Given the description of an element on the screen output the (x, y) to click on. 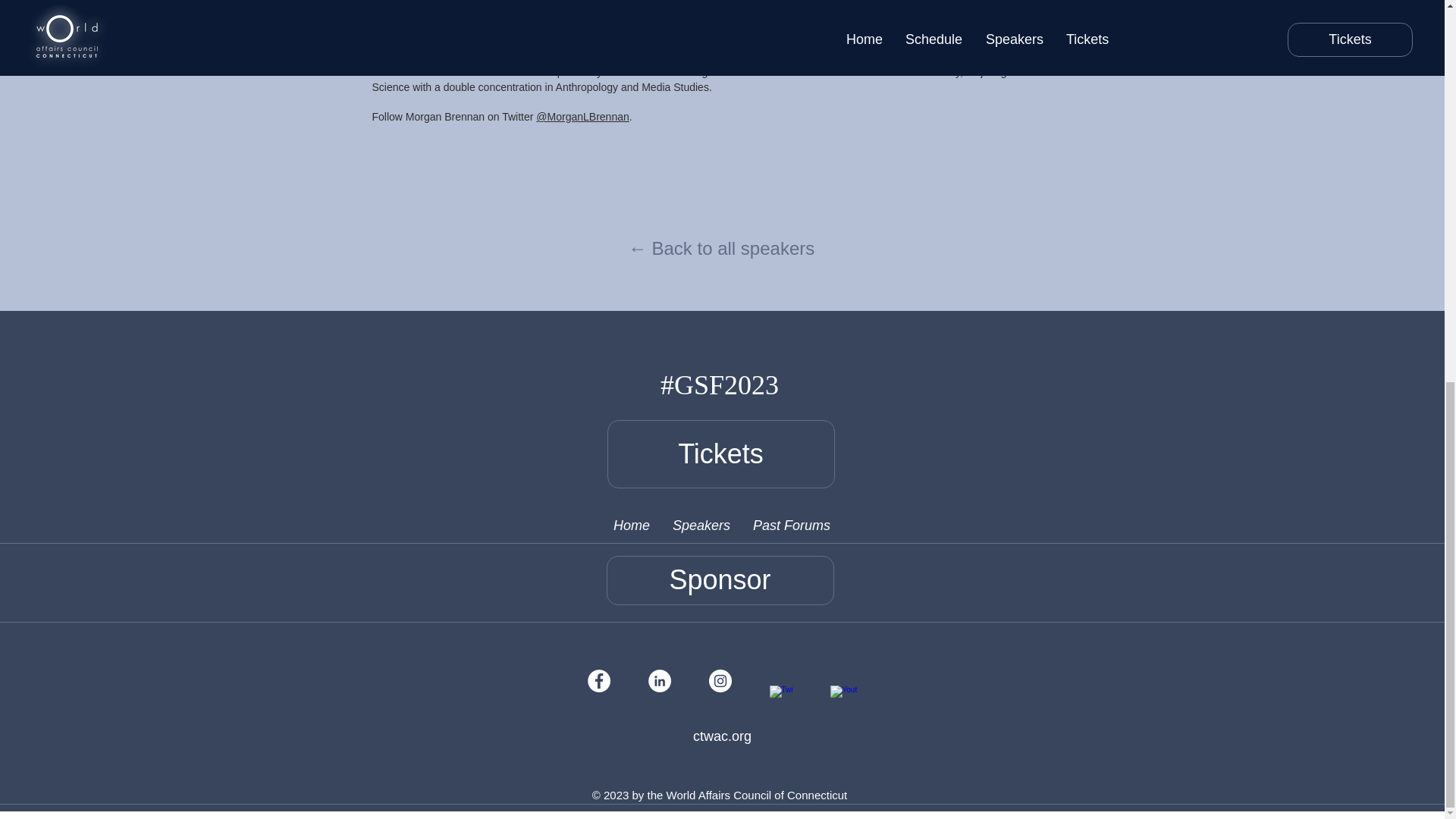
ctwac.org (722, 735)
Sponsor (720, 580)
Past Forums (790, 525)
Speakers (701, 525)
Home (631, 525)
Tickets (720, 454)
